Given the description of an element on the screen output the (x, y) to click on. 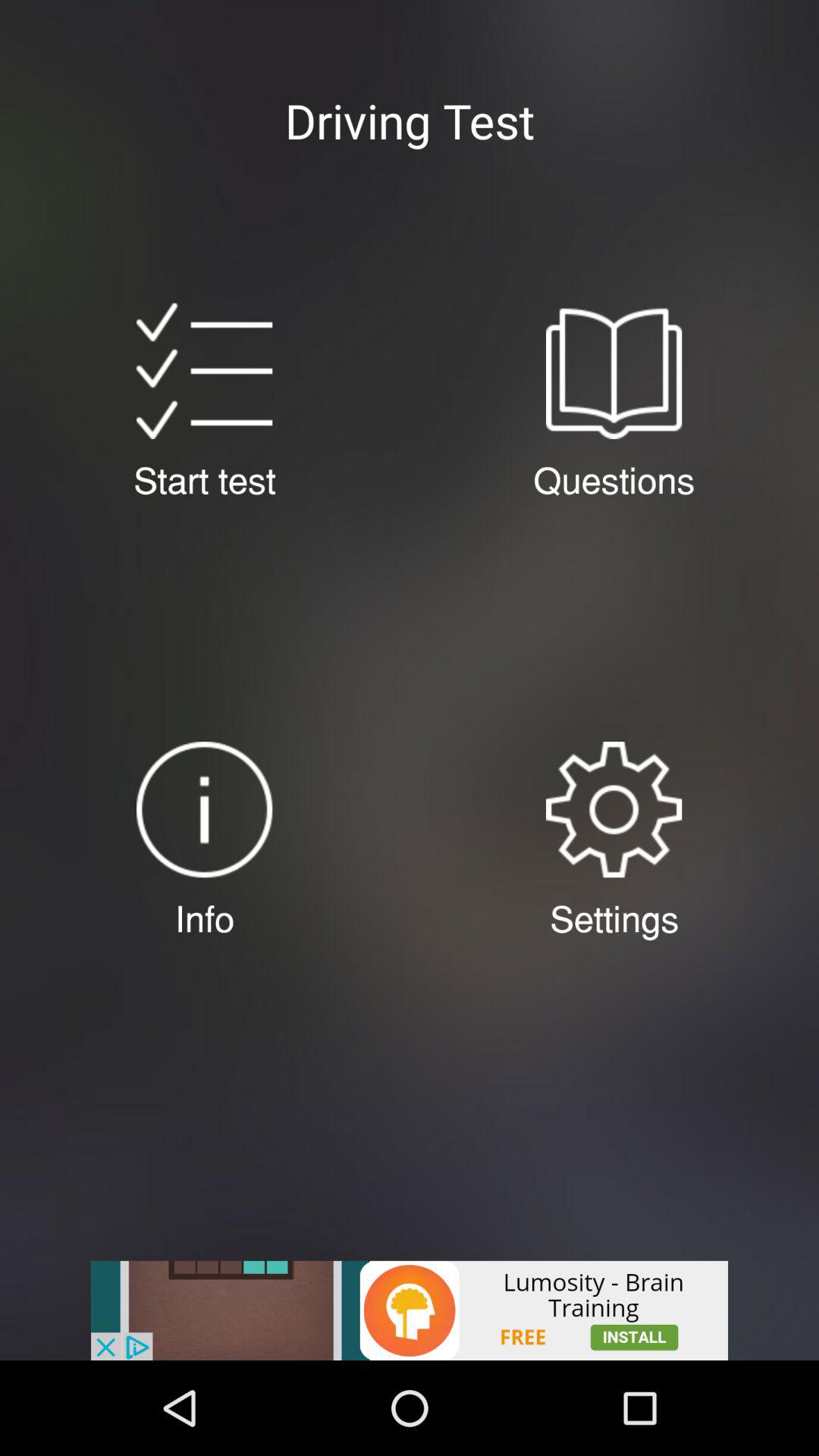
click on questions option (613, 371)
